Given the description of an element on the screen output the (x, y) to click on. 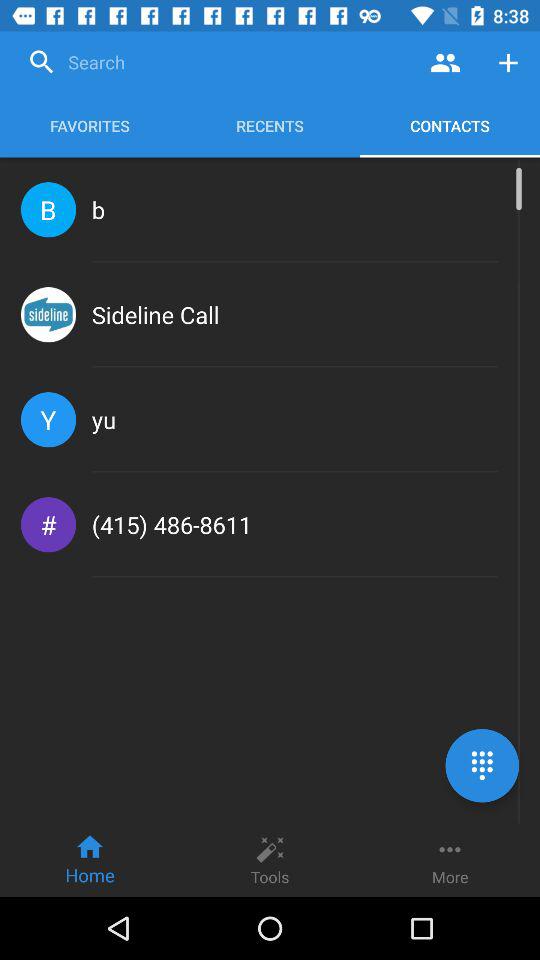
add new contact (508, 62)
